Given the description of an element on the screen output the (x, y) to click on. 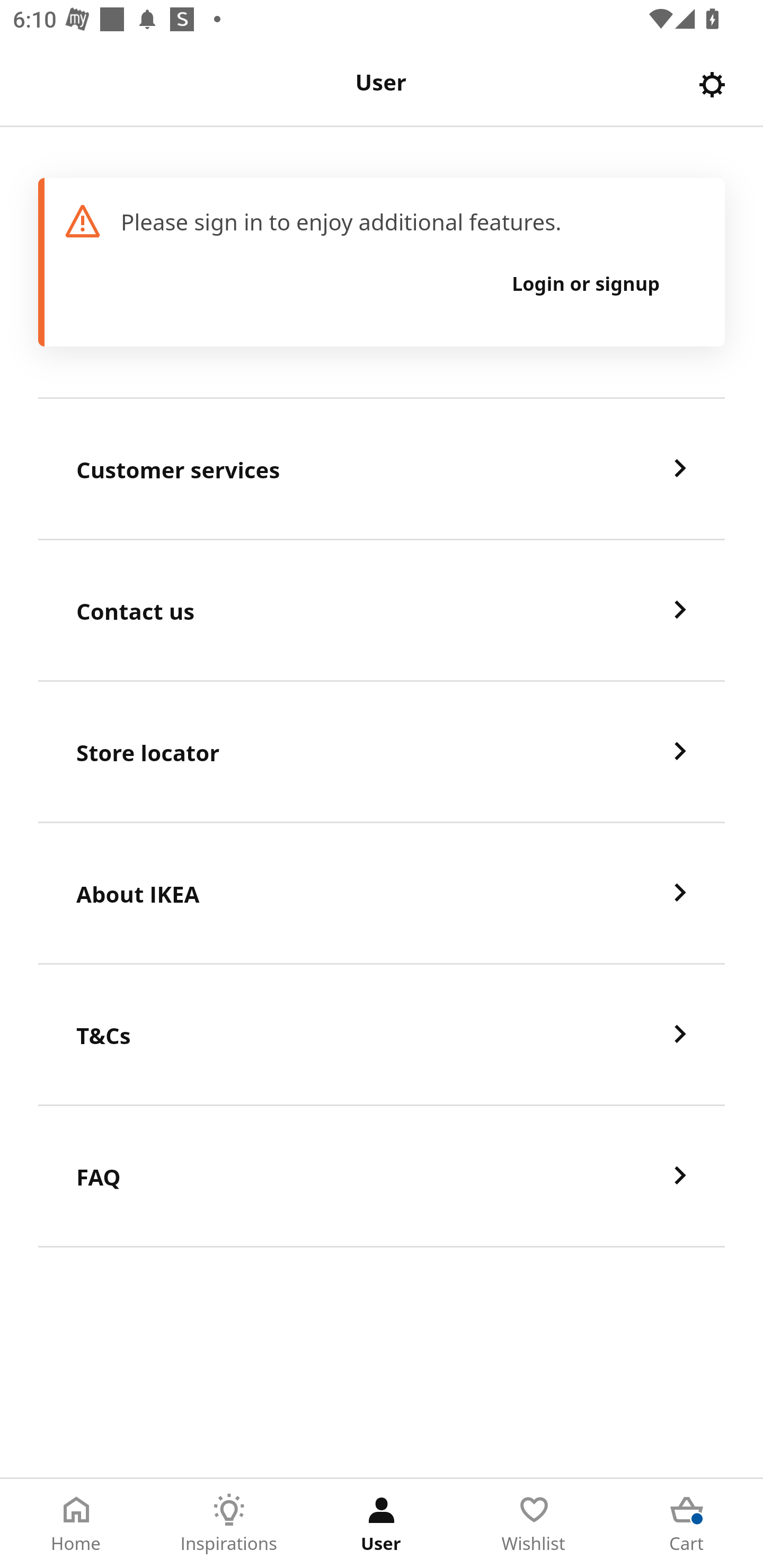
Login or signup (586, 282)
Customer services (381, 469)
Contact us (381, 611)
Store locator (381, 752)
About IKEA (381, 893)
T&Cs (381, 1034)
FAQ (381, 1176)
Home
Tab 1 of 5 (76, 1522)
Inspirations
Tab 2 of 5 (228, 1522)
User
Tab 3 of 5 (381, 1522)
Wishlist
Tab 4 of 5 (533, 1522)
Cart
Tab 5 of 5 (686, 1522)
